Given the description of an element on the screen output the (x, y) to click on. 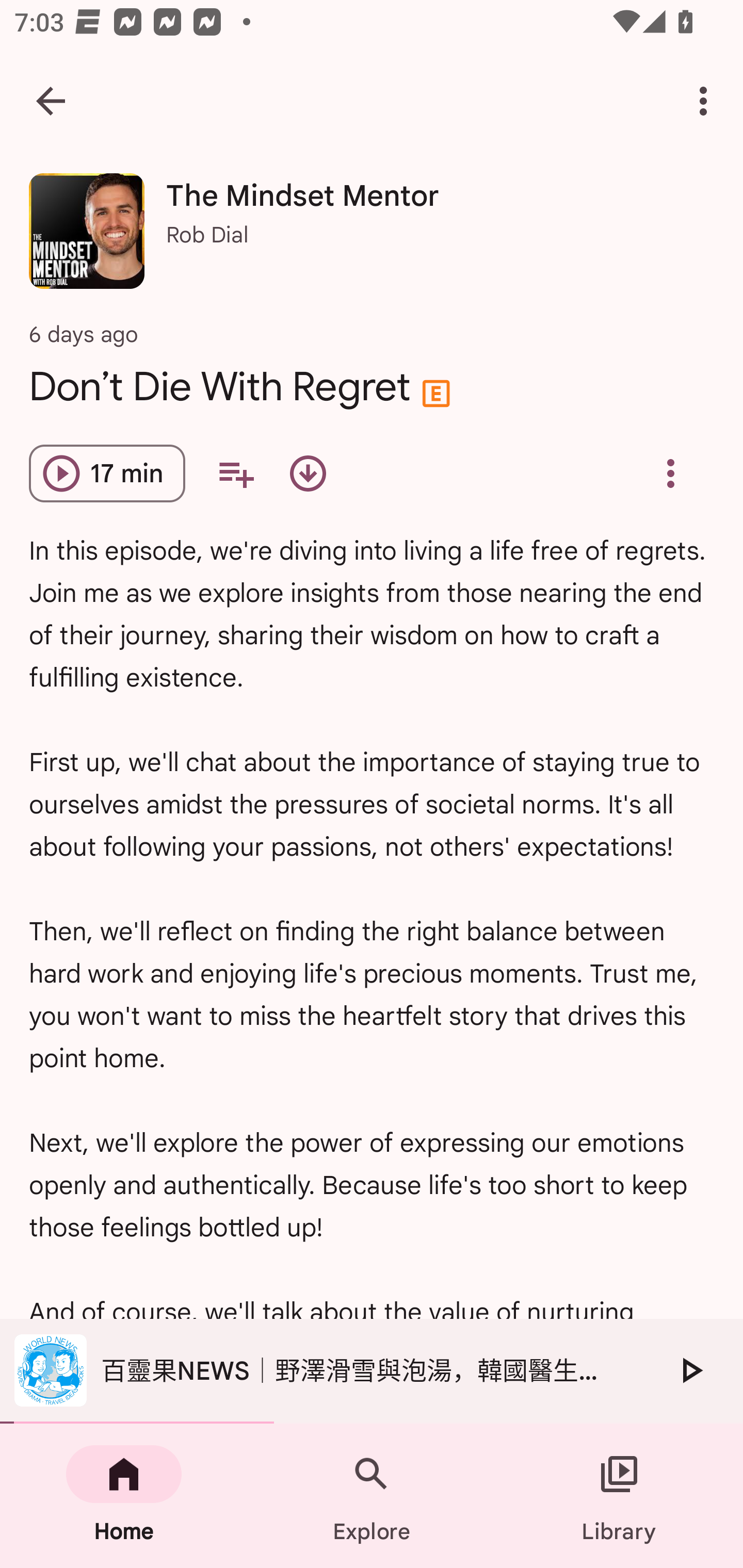
Navigate up (50, 101)
More options (706, 101)
The Mindset Mentor The Mindset Mentor Rob Dial (371, 238)
Play episode Don’t Die With Regret 17 min (106, 473)
Add to your queue (235, 473)
Download episode (307, 473)
Overflow menu (670, 473)
Play (690, 1370)
Explore (371, 1495)
Library (619, 1495)
